Given the description of an element on the screen output the (x, y) to click on. 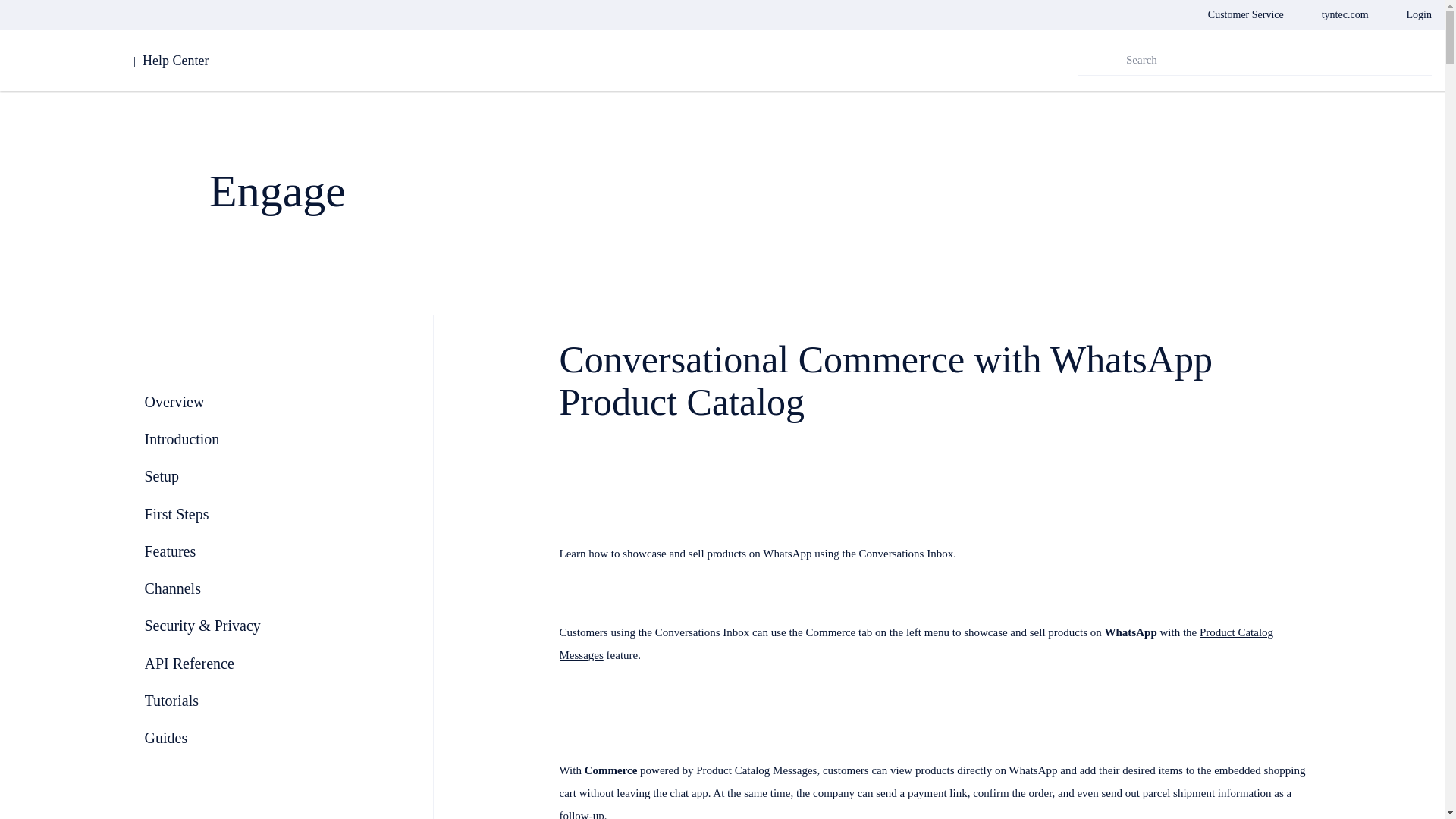
Introduction (181, 438)
Login (1418, 15)
First Steps (176, 514)
Overview (173, 401)
Setup (161, 475)
Customer Service (1246, 15)
API Reference (188, 663)
tyntec.com (1345, 15)
